Given the description of an element on the screen output the (x, y) to click on. 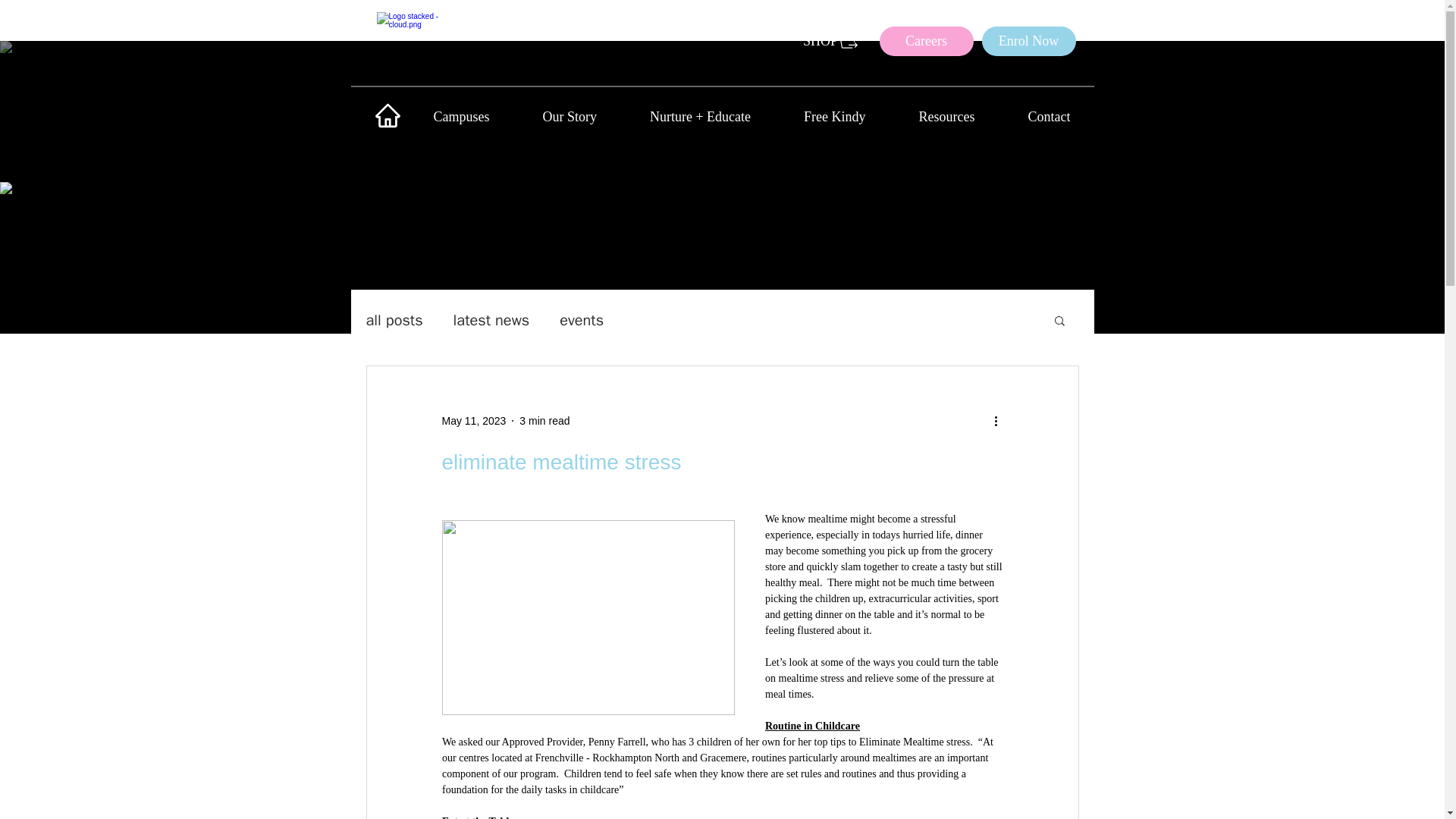
Campuses (460, 116)
Free Kindy (834, 116)
May 11, 2023 (473, 419)
3 min read (544, 419)
Our Story (569, 116)
latest news (490, 319)
events (581, 319)
Enrol Now (1028, 41)
Careers (926, 41)
all posts (393, 319)
Resources (946, 116)
SHOP (831, 40)
Contact (1048, 116)
